Given the description of an element on the screen output the (x, y) to click on. 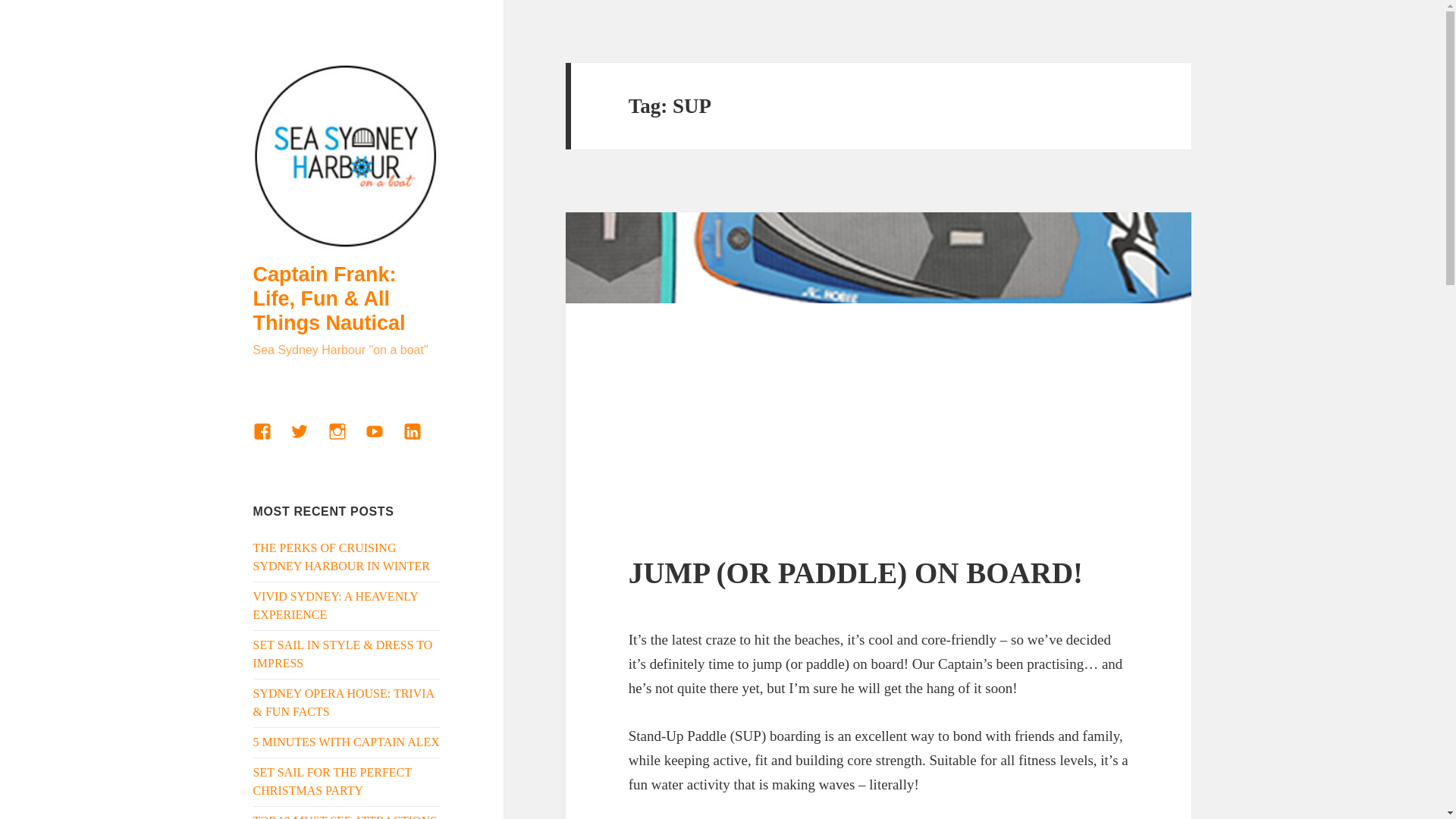
SET SAIL FOR THE PERFECT CHRISTMAS PARTY (332, 780)
5 MINUTES WITH CAPTAIN ALEX (346, 741)
THE PERKS OF CRUISING SYDNEY HARBOUR IN WINTER (341, 556)
VIVID SYDNEY: A HEAVENLY EXPERIENCE (336, 604)
TOP 10 MUST-SEE ATTRACTIONS ON SYDNEY HARBOUR (345, 816)
TWITTER (307, 440)
FACEBOOK (271, 440)
YOUTUBE (383, 440)
LINKEDIN (421, 440)
INSTAGRAM (347, 440)
